Given the description of an element on the screen output the (x, y) to click on. 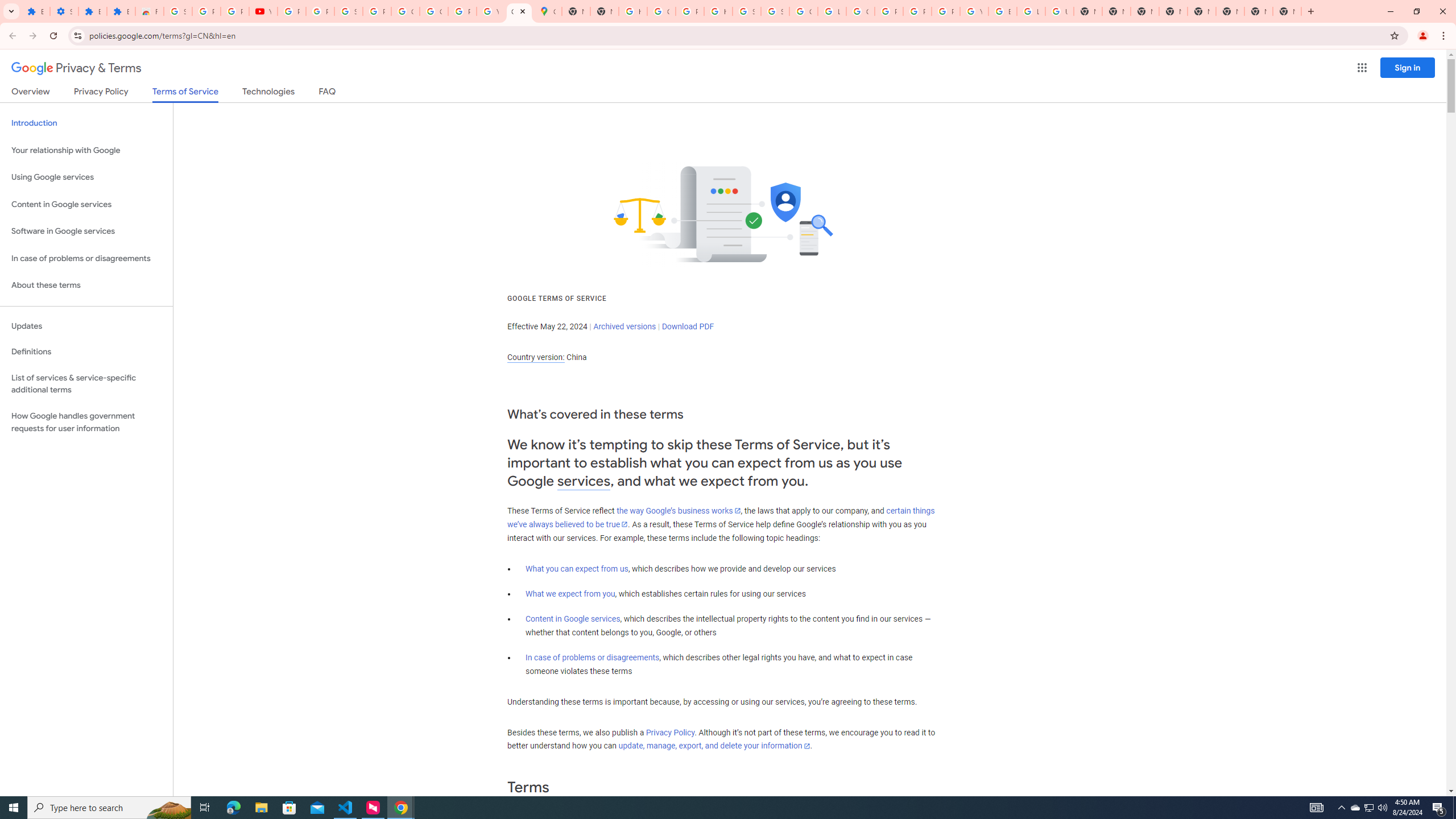
update, manage, export, and delete your information (714, 746)
Country version: (535, 357)
About these terms (86, 284)
Software in Google services (86, 230)
YouTube (263, 11)
YouTube (490, 11)
